Given the description of an element on the screen output the (x, y) to click on. 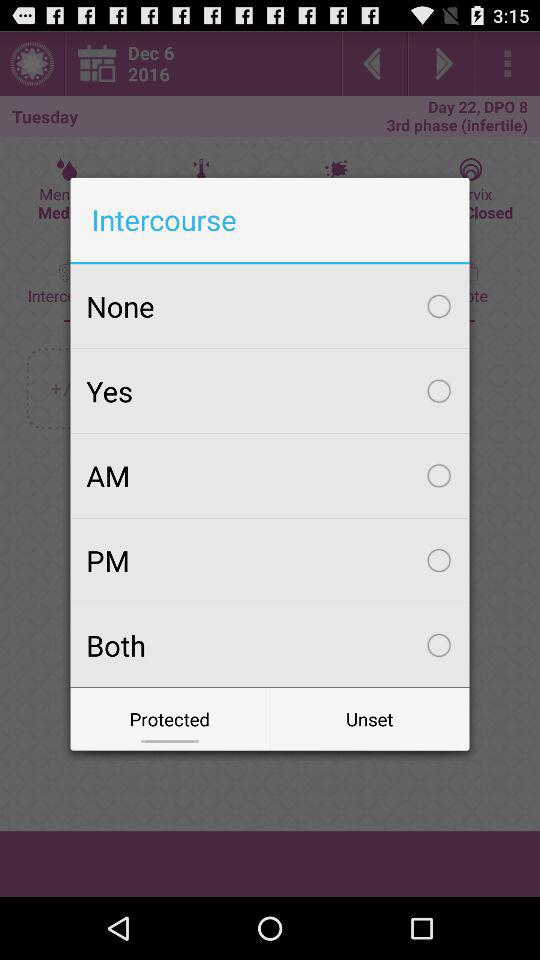
launch checkbox below the pm (269, 645)
